Given the description of an element on the screen output the (x, y) to click on. 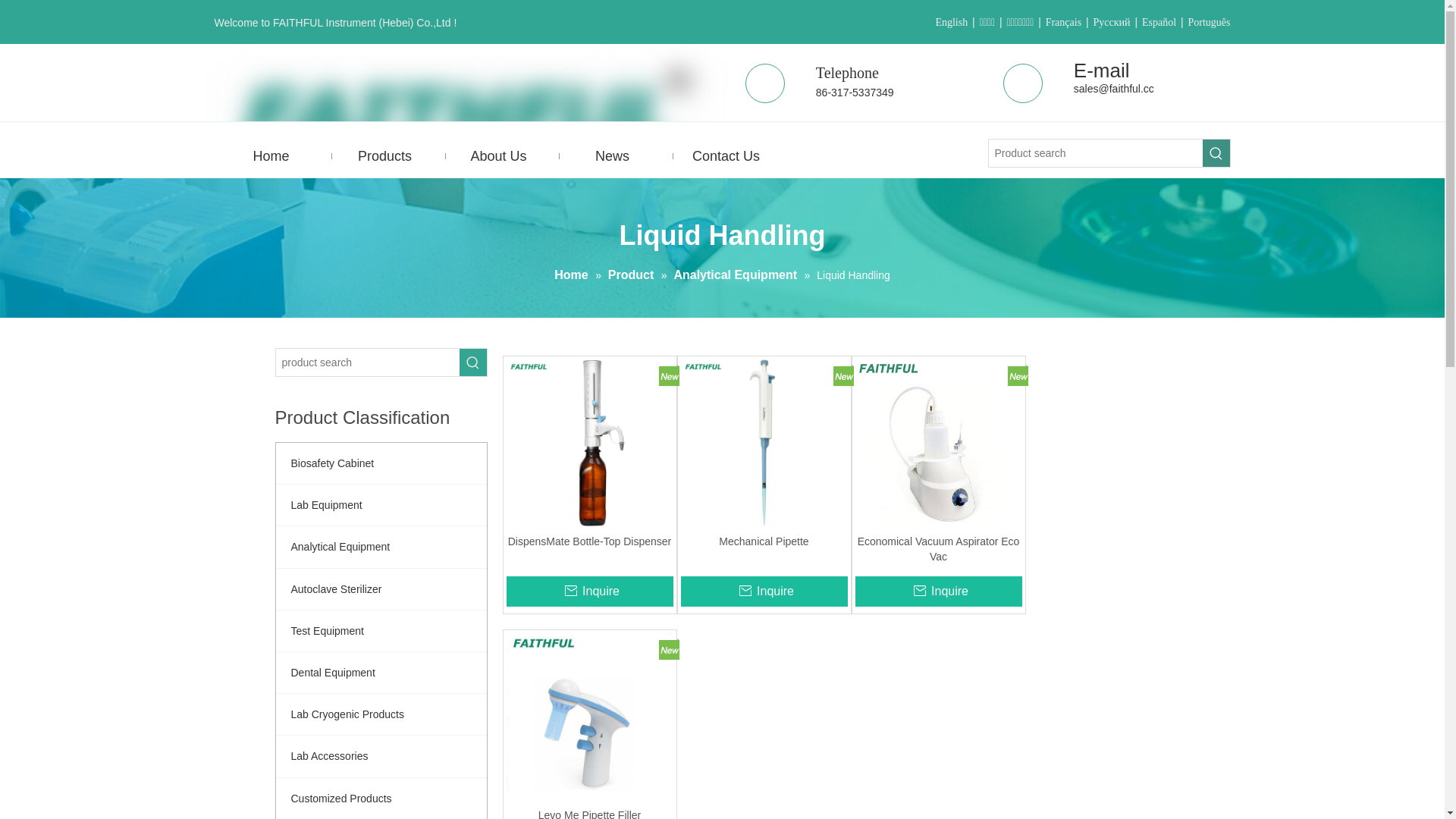
Products Element type: text (384, 155)
Analytical Equipment Element type: text (381, 546)
Economical Vacuum Aspirator Eco Vac Element type: text (938, 548)
Dental Equipment Element type: text (381, 672)
Inquire Element type: text (763, 591)
FAITHFUL Element type: hover (463, 109)
About Us Element type: text (498, 155)
News Element type: text (611, 155)
sales@faithful.cc Element type: text (1113, 88)
Autoclave Sterilizer Element type: text (381, 588)
Mechanical Pipette Element type: text (763, 548)
Lab Cryogenic Products Element type: text (381, 713)
Home Element type: text (572, 274)
Test Equipment Element type: text (381, 630)
DispensMate Bottle-Top Dispenser Element type: text (589, 548)
Analytical Equipment Element type: text (736, 274)
Lab Equipment Element type: text (381, 504)
Product Element type: text (632, 274)
Contact Us Element type: text (725, 155)
Biosafety Cabinet Element type: text (381, 462)
English Element type: text (951, 21)
Inquire Element type: text (589, 591)
Inquire Element type: text (938, 591)
Home Element type: text (270, 155)
Lab Accessories Element type: text (381, 755)
